Given the description of an element on the screen output the (x, y) to click on. 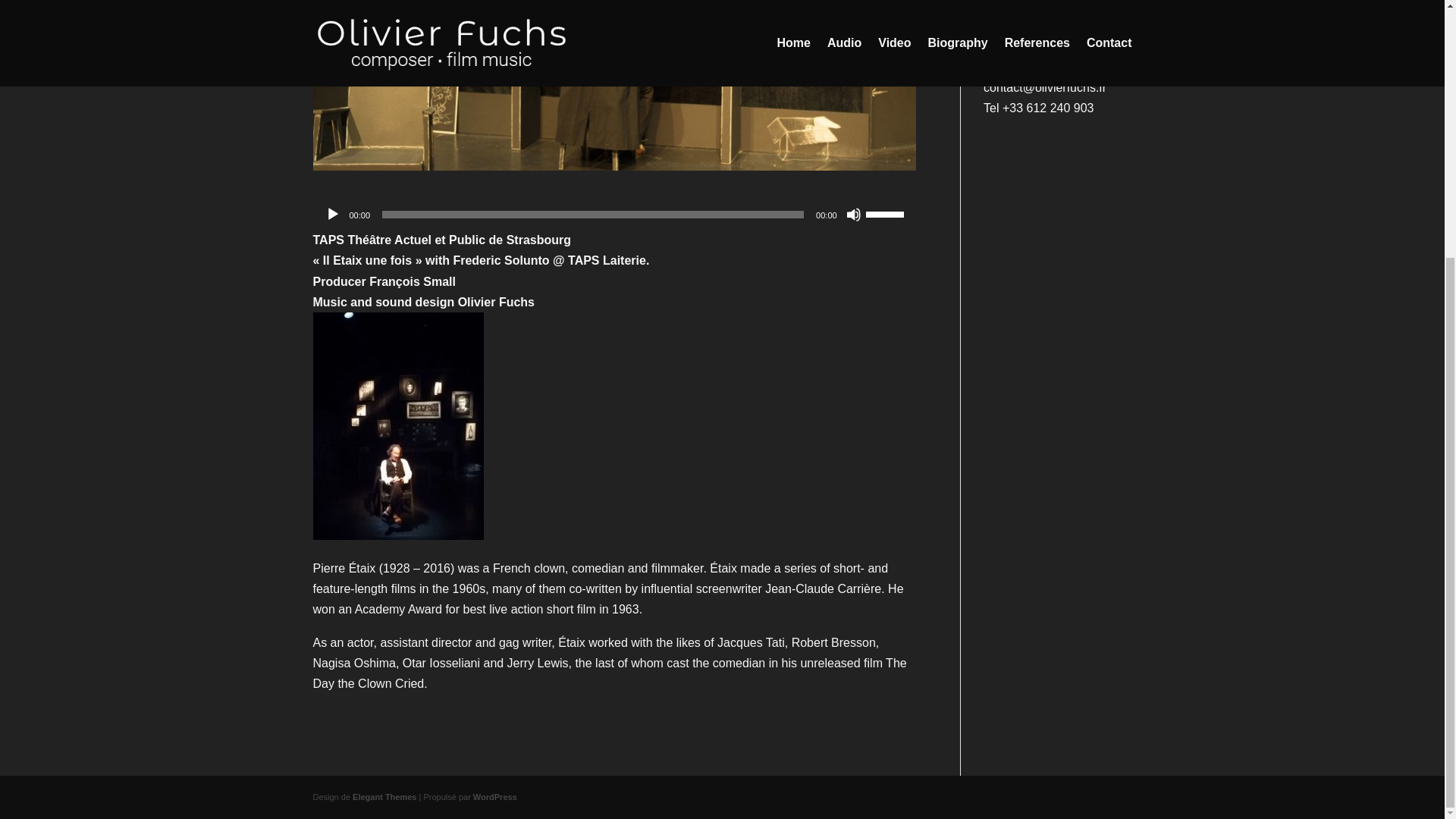
Lecture (331, 214)
Elegant Themes (384, 796)
Premium WordPress Themes (384, 796)
Muet (853, 214)
WordPress (494, 796)
Liverpool ! (1011, 22)
The wind of chemical warfare (1040, 1)
